Given the description of an element on the screen output the (x, y) to click on. 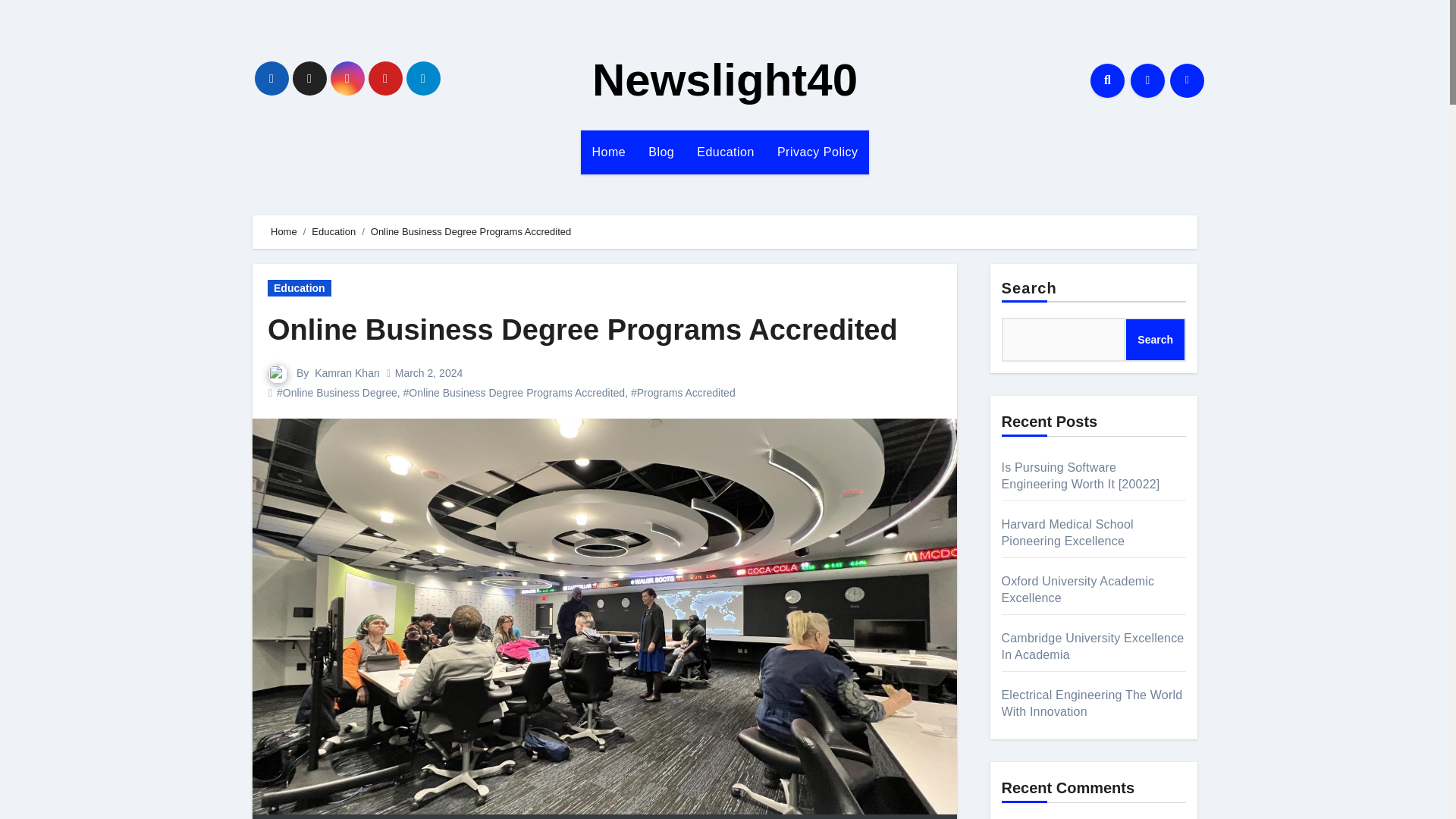
Home (608, 152)
Education (299, 288)
Home (283, 231)
March 2, 2024 (428, 372)
Education (725, 152)
Privacy Policy (817, 152)
Online Business Degree Programs Accredited (582, 329)
Blog (661, 152)
Home (608, 152)
Education (333, 231)
Permalink to: Online Business Degree Programs Accredited (582, 329)
Privacy Policy (817, 152)
Kamran Khan (347, 372)
Education (725, 152)
Blog (661, 152)
